Given the description of an element on the screen output the (x, y) to click on. 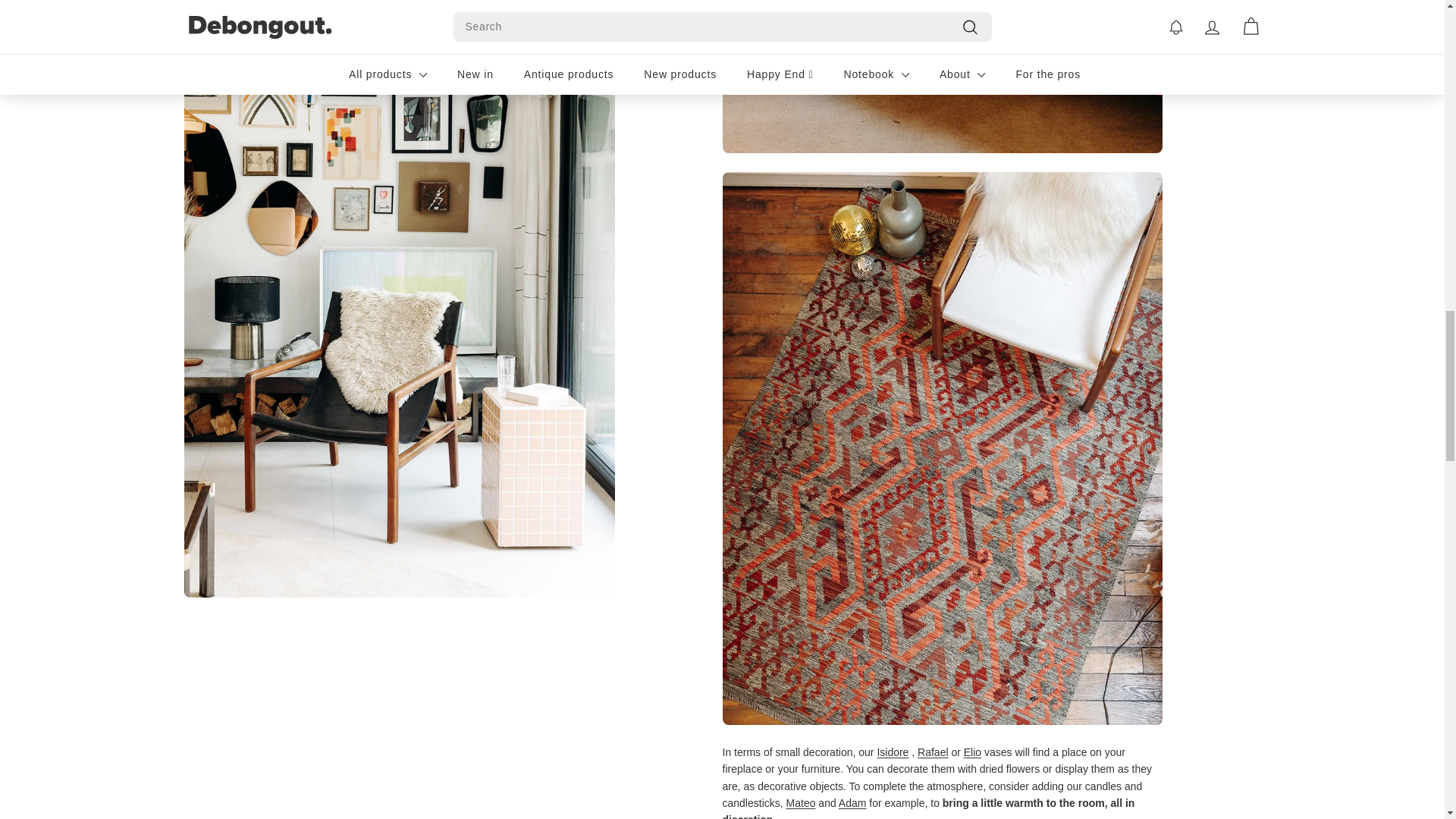
elio (972, 752)
Isidore (892, 752)
Raphael (932, 752)
